Given the description of an element on the screen output the (x, y) to click on. 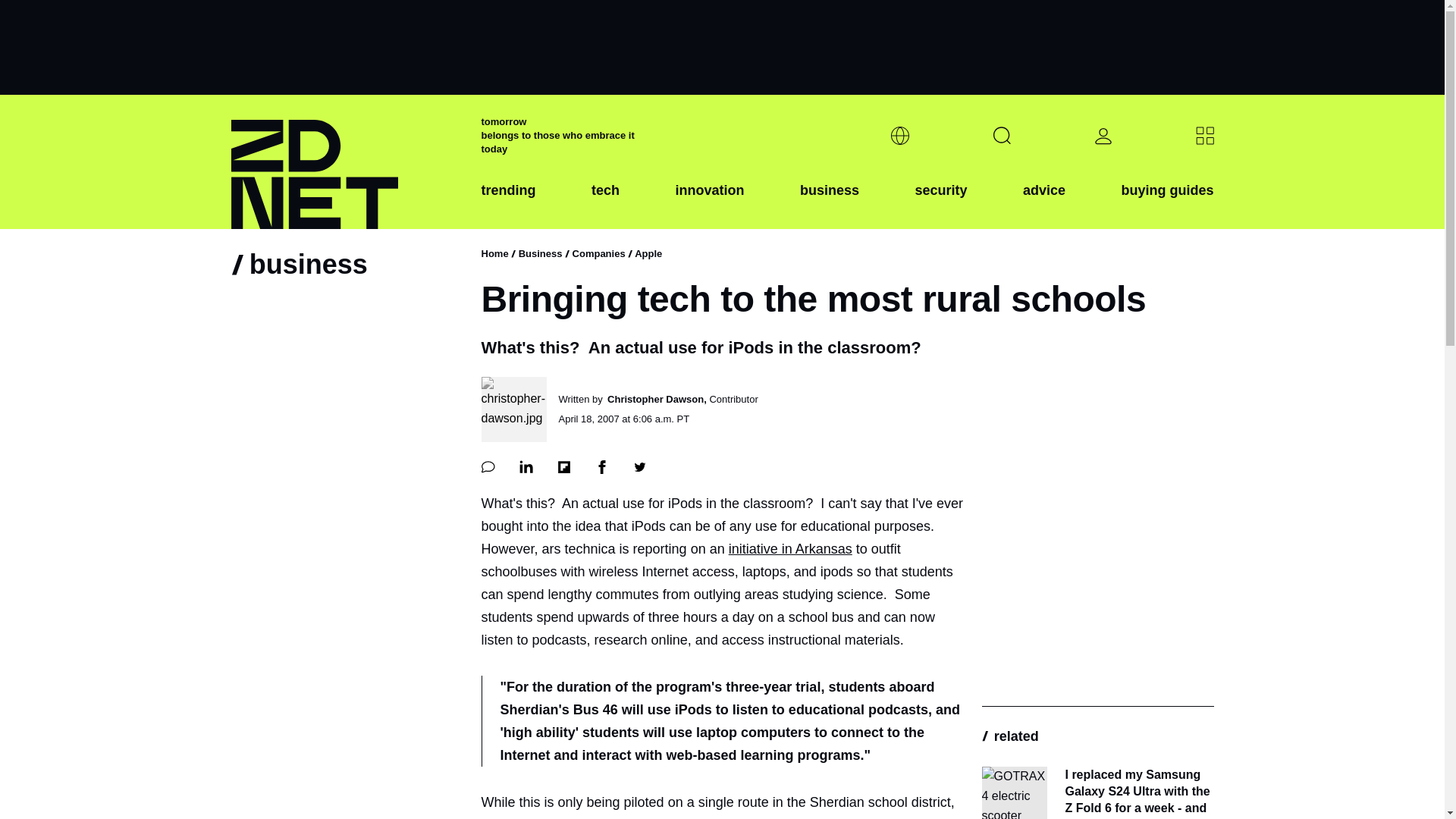
ZDNET (346, 162)
trending (507, 202)
tech (605, 202)
